Given the description of an element on the screen output the (x, y) to click on. 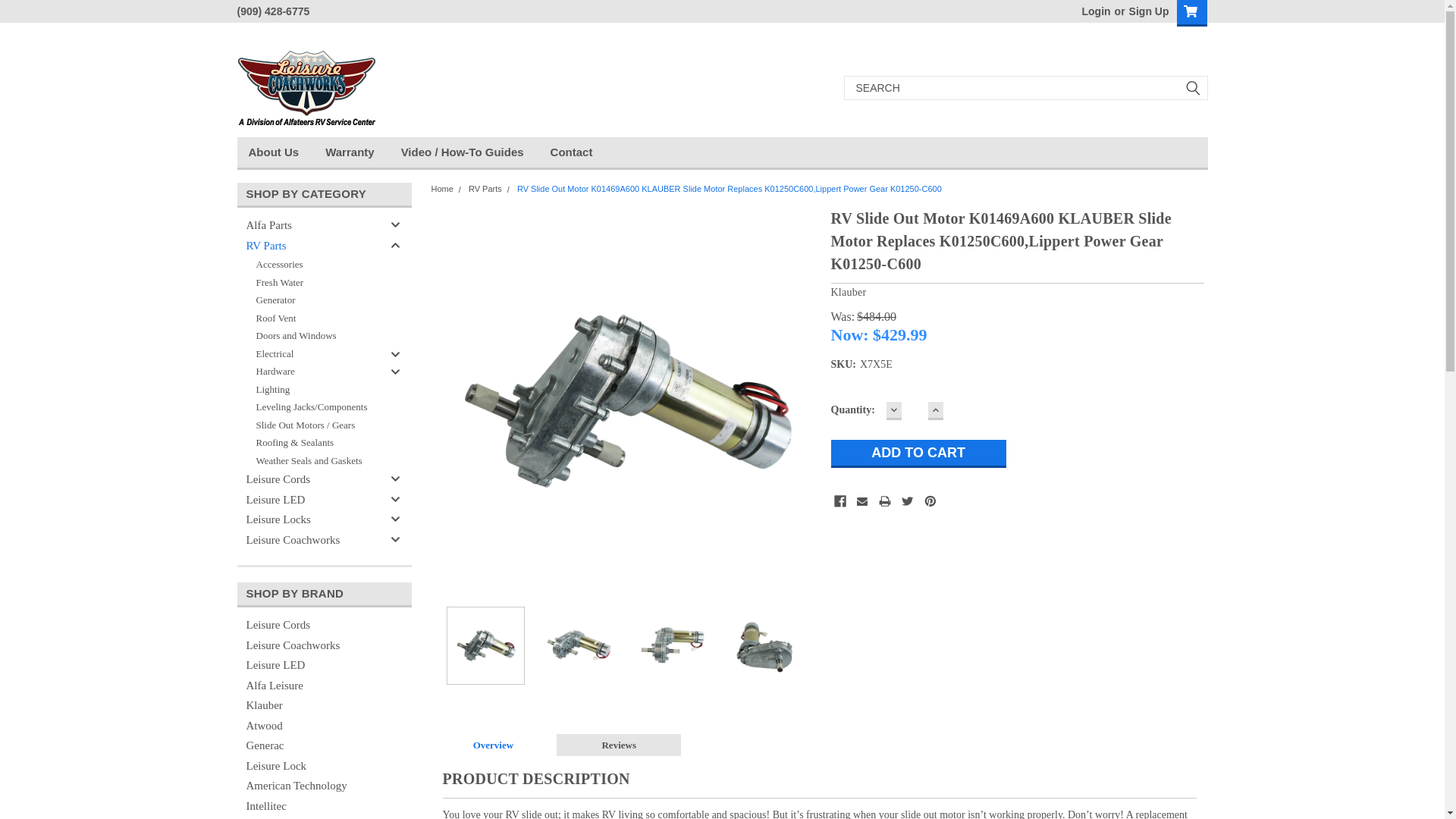
Leisure RV Parts (306, 87)
Login (1095, 11)
submit (1192, 87)
Sign Up (1147, 11)
Add to Cart (918, 453)
1 (914, 411)
